Given the description of an element on the screen output the (x, y) to click on. 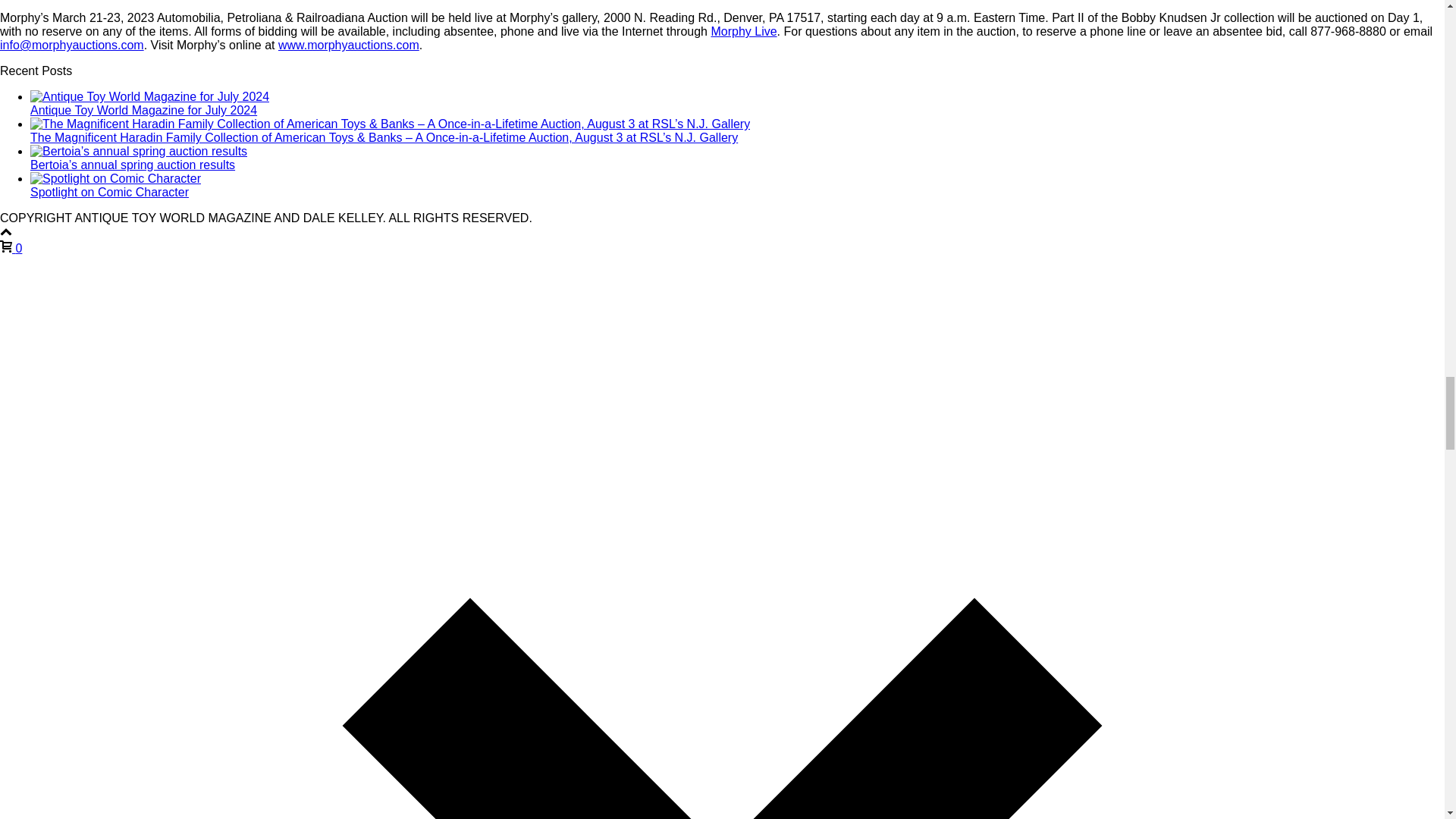
0 (10, 247)
Spotlight on Comic Character (109, 192)
Morphy Live (743, 31)
www.morphyauctions.com (348, 44)
Antique Toy World Magazine for July 2024 (143, 110)
